Given the description of an element on the screen output the (x, y) to click on. 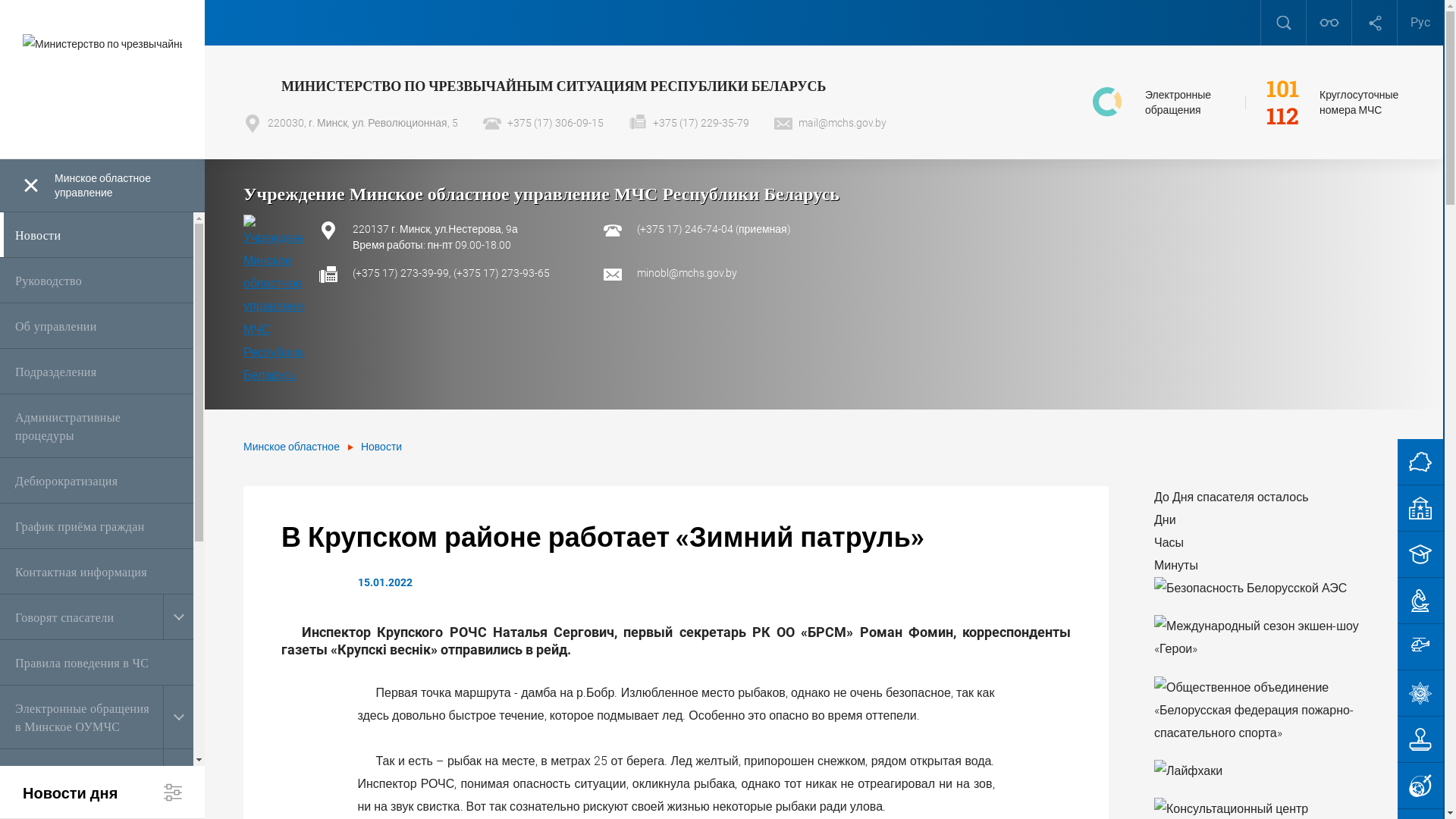
112 Element type: text (1282, 115)
101 Element type: text (1282, 88)
(+375 17) Element type: text (660, 228)
minobl@mchs.gov.by Element type: text (687, 272)
(+375 17) 273-39-99 Element type: text (400, 272)
(+375 17) 273-93-65 Element type: text (501, 272)
+375 (17) 306-09-15 Element type: text (543, 122)
mail@mchs.gov.by Element type: text (830, 122)
+375 (17) 229-35-79 Element type: text (688, 122)
